Given the description of an element on the screen output the (x, y) to click on. 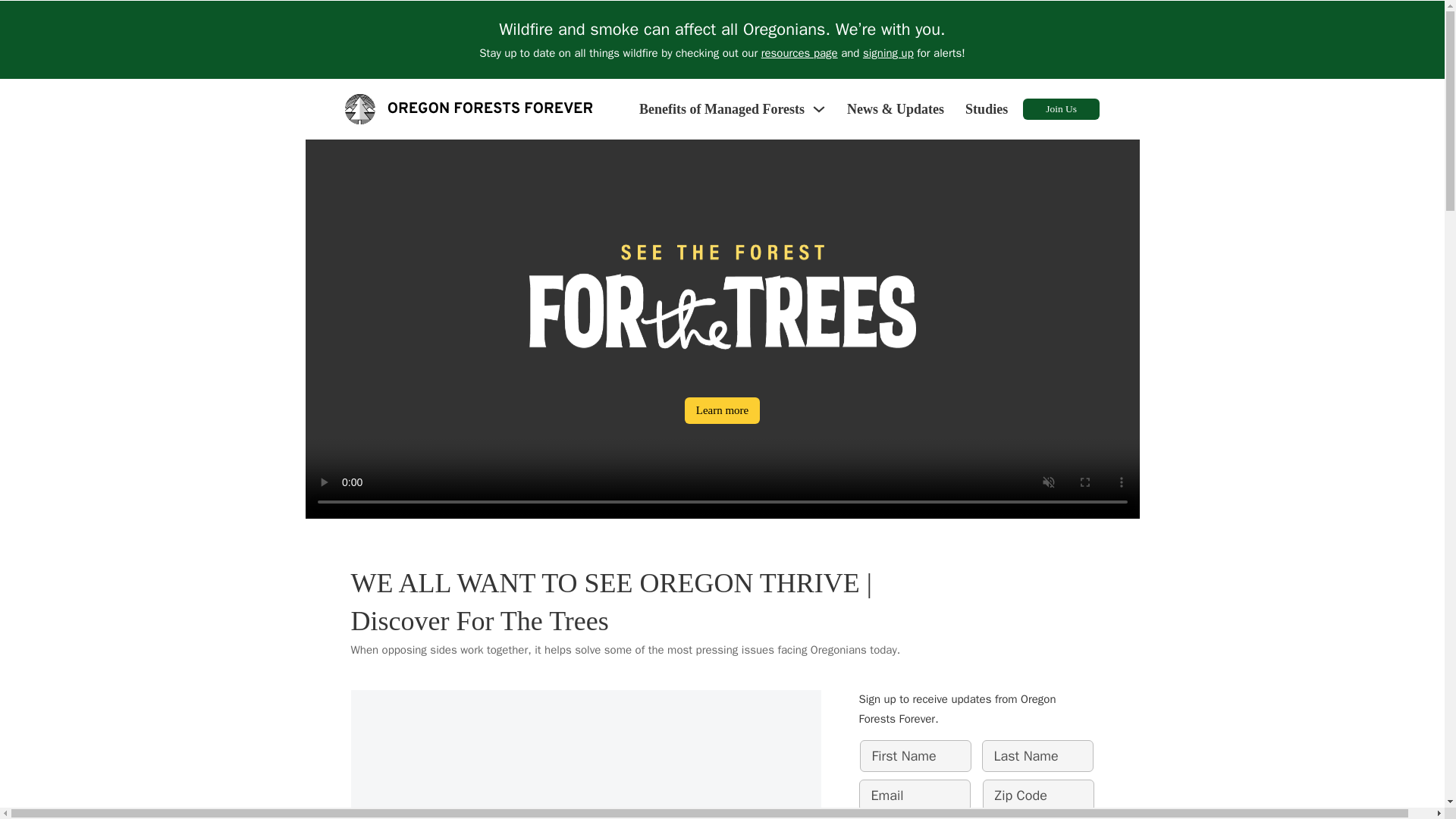
Studies (986, 109)
Join Us (1061, 108)
signing up (888, 52)
Learn more (722, 410)
resources page (799, 52)
Benefits of Managed Forests (722, 109)
